Given the description of an element on the screen output the (x, y) to click on. 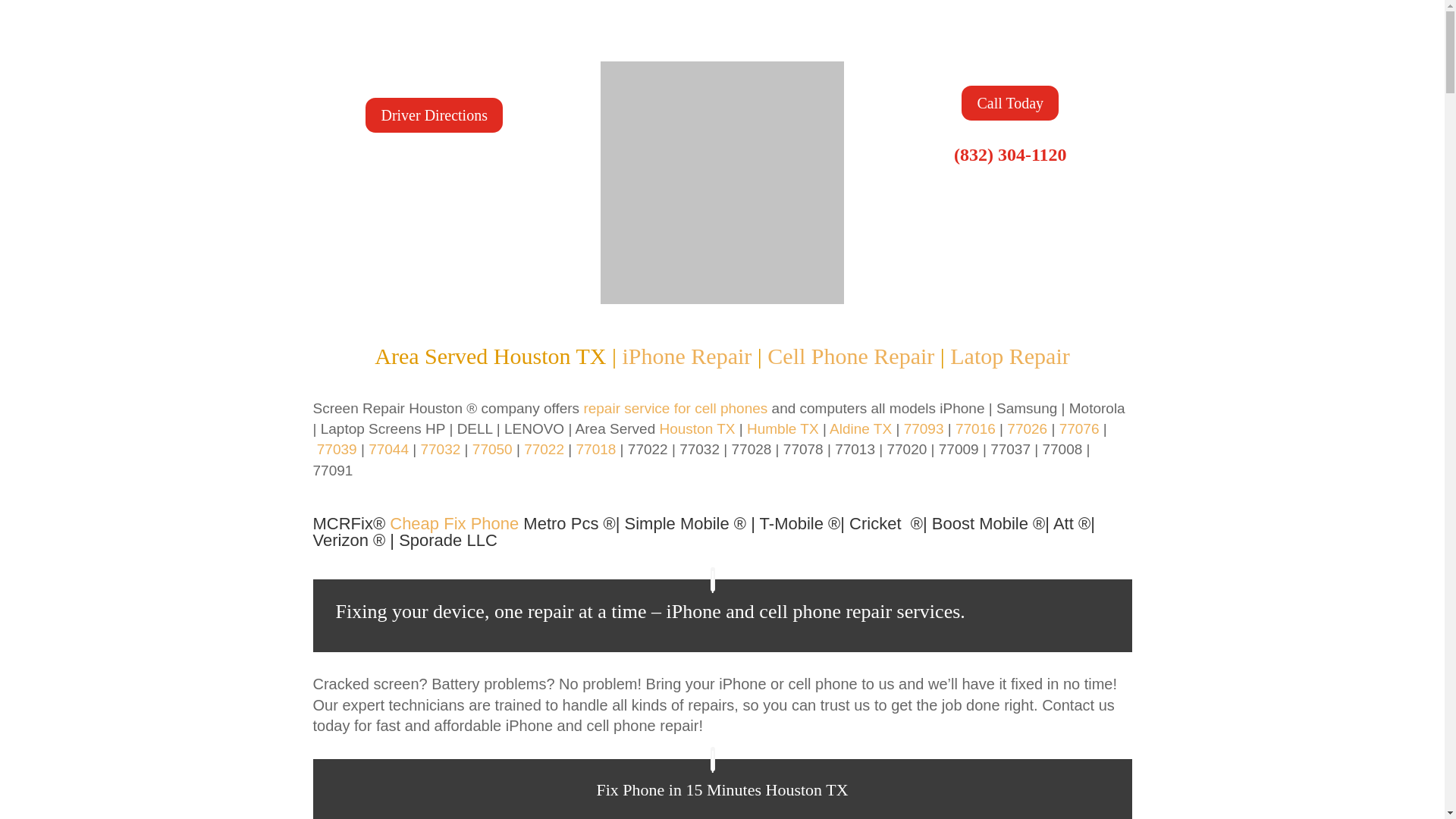
Aldine TX (860, 428)
77076 (1079, 428)
Humble TX (782, 428)
77044 (388, 449)
Cheap Fix Phone (454, 523)
Houston TX (697, 428)
Posts tagged with Mobile (799, 523)
repair service for cell phones (675, 408)
77022 (544, 449)
77093 (923, 428)
